Given the description of an element on the screen output the (x, y) to click on. 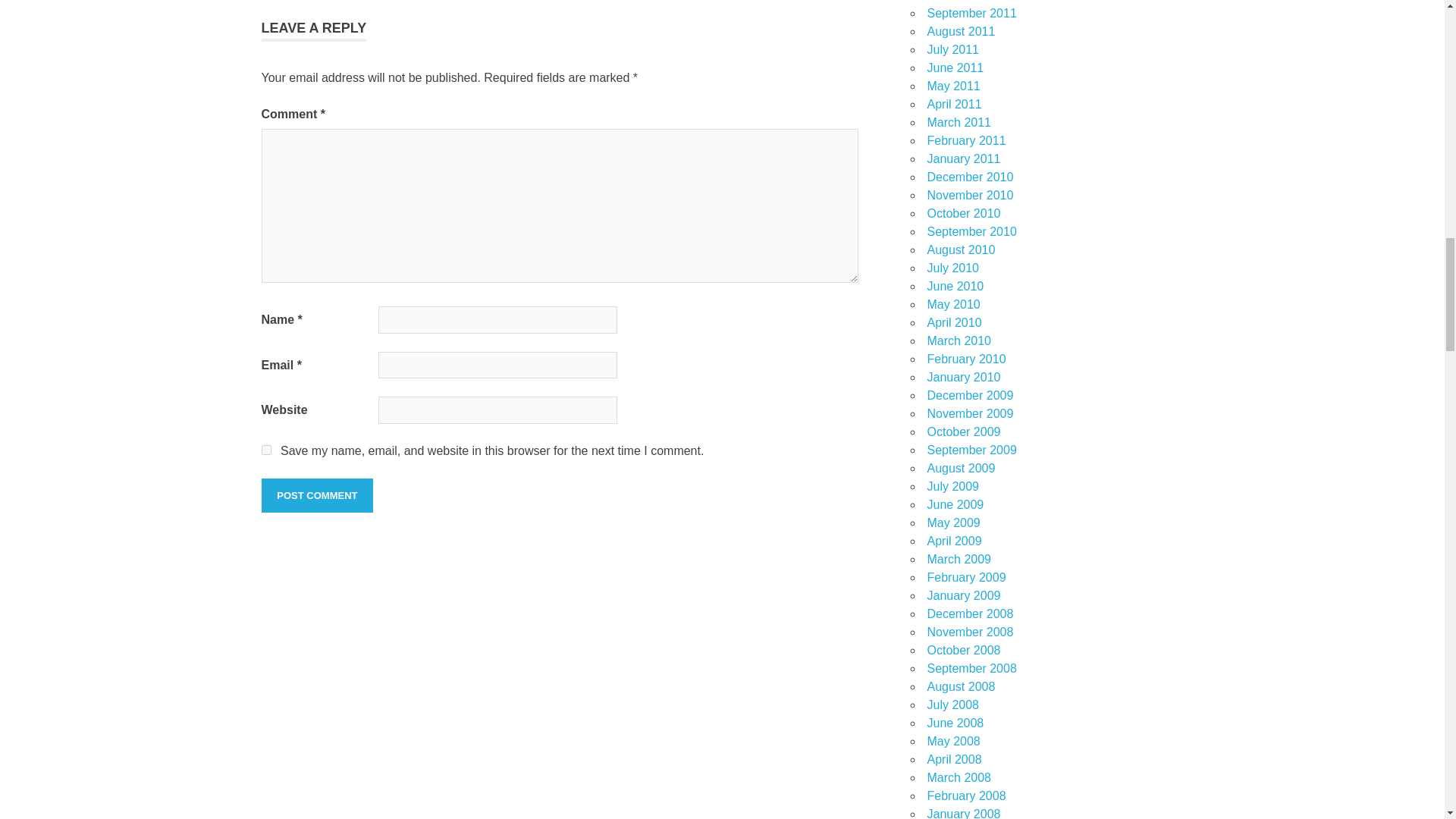
Post Comment (316, 495)
yes (265, 450)
Post Comment (316, 495)
